Given the description of an element on the screen output the (x, y) to click on. 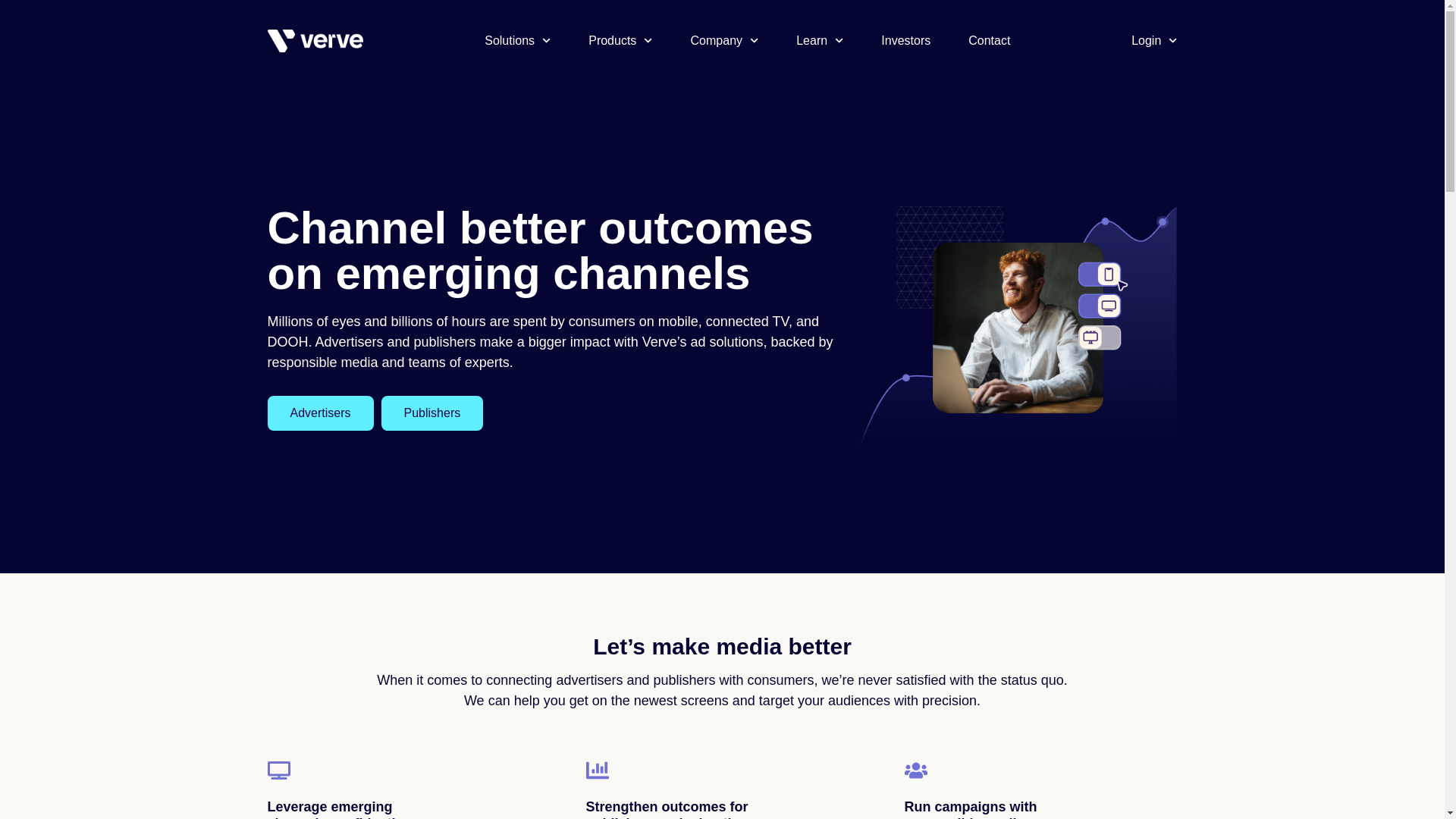
Products (620, 40)
Company (724, 40)
Investors (905, 40)
Contact (989, 40)
Learn (819, 40)
Solutions (517, 40)
